Given the description of an element on the screen output the (x, y) to click on. 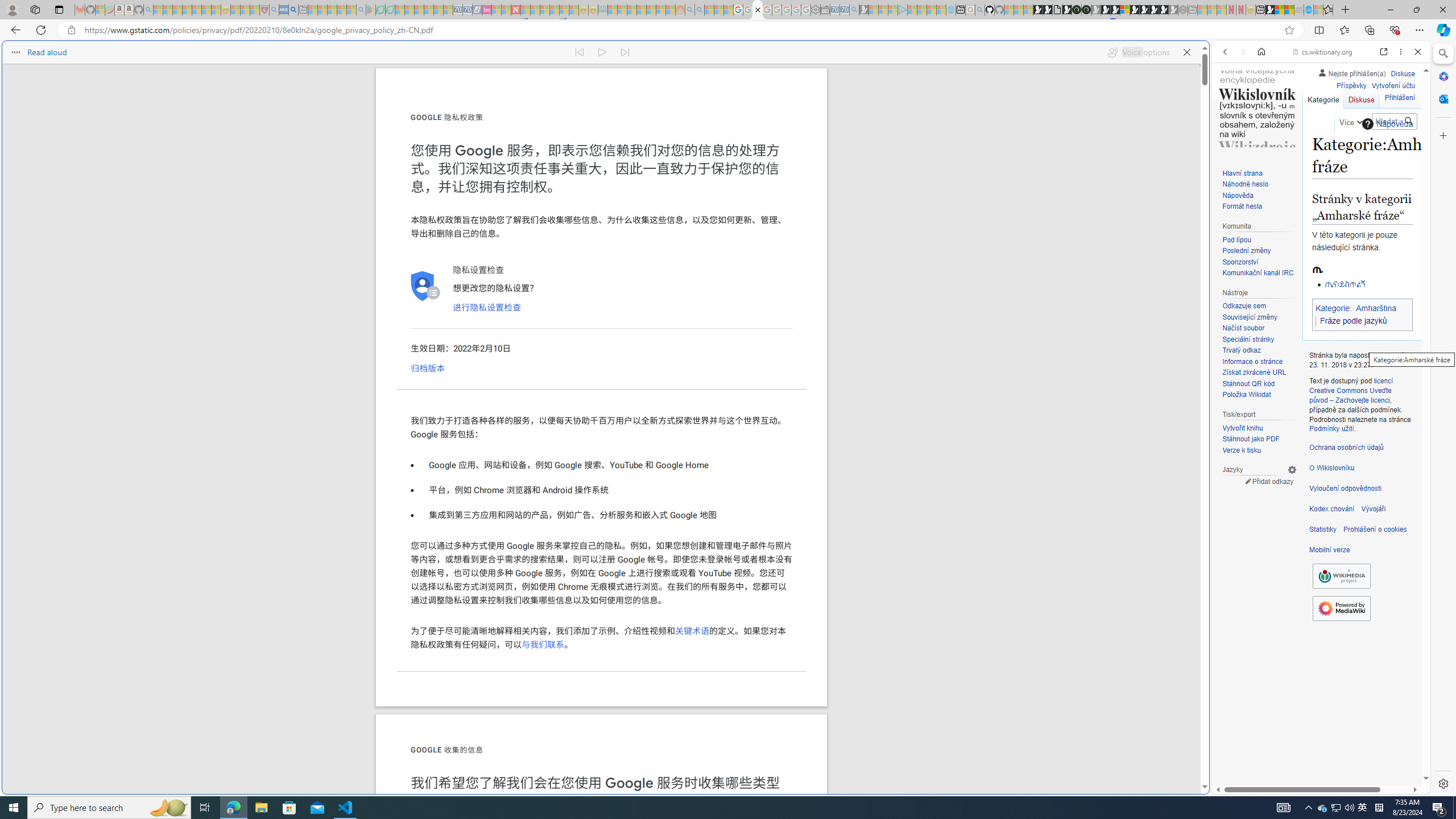
Latest Politics News & Archive | Newsweek.com - Sleeping (515, 9)
